Given the description of an element on the screen output the (x, y) to click on. 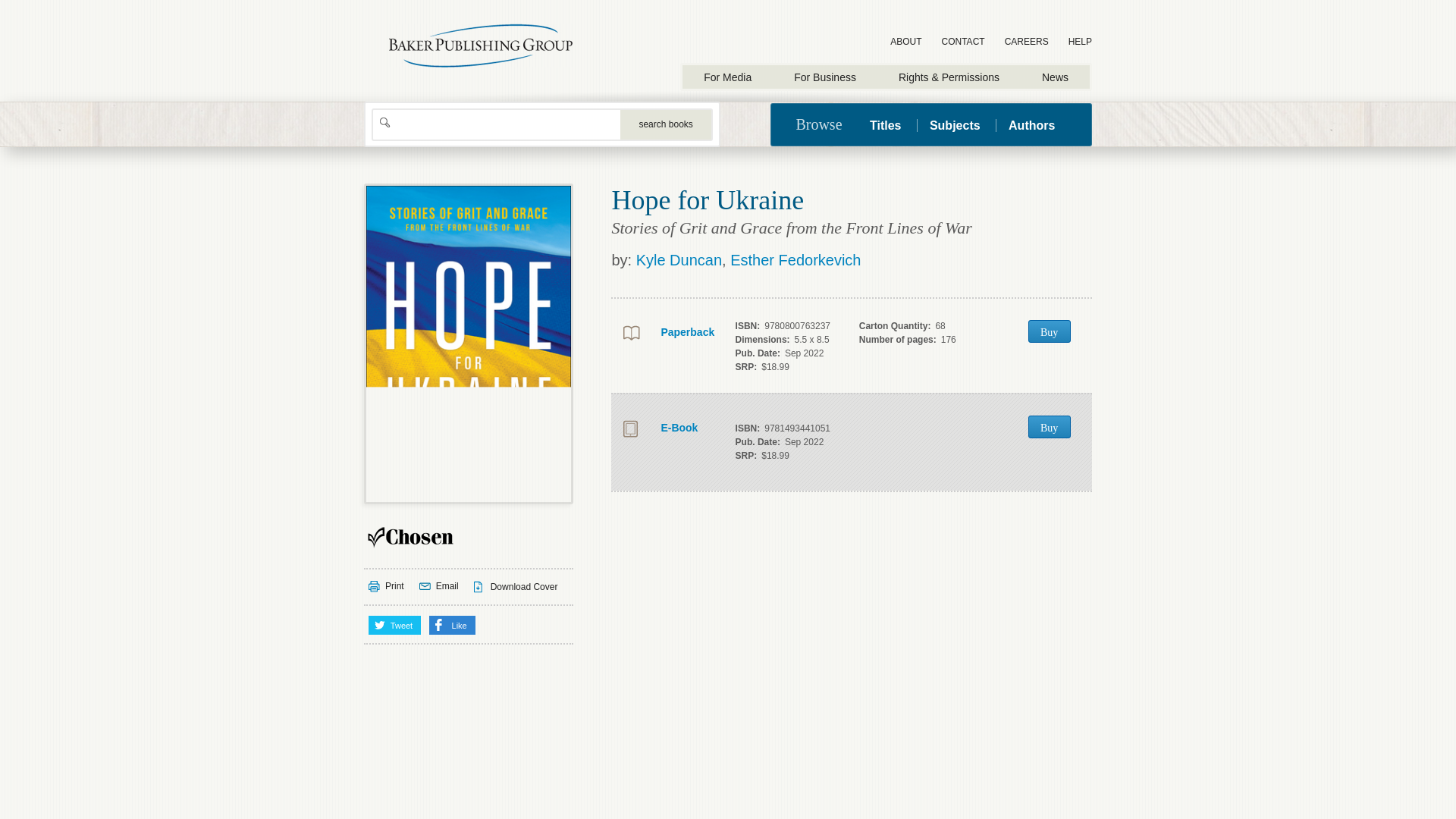
Kyle Duncan (679, 259)
Search Books (665, 124)
E-Book (665, 428)
For Business (825, 76)
Email (438, 586)
HELP (1080, 41)
Titles (891, 124)
Baker Publishing Group (480, 45)
Authors (1031, 124)
Esther Fedorkevich (795, 259)
Buy (1048, 426)
Print (386, 586)
Subjects (954, 124)
For Media (727, 76)
CONTACT (963, 41)
